Given the description of an element on the screen output the (x, y) to click on. 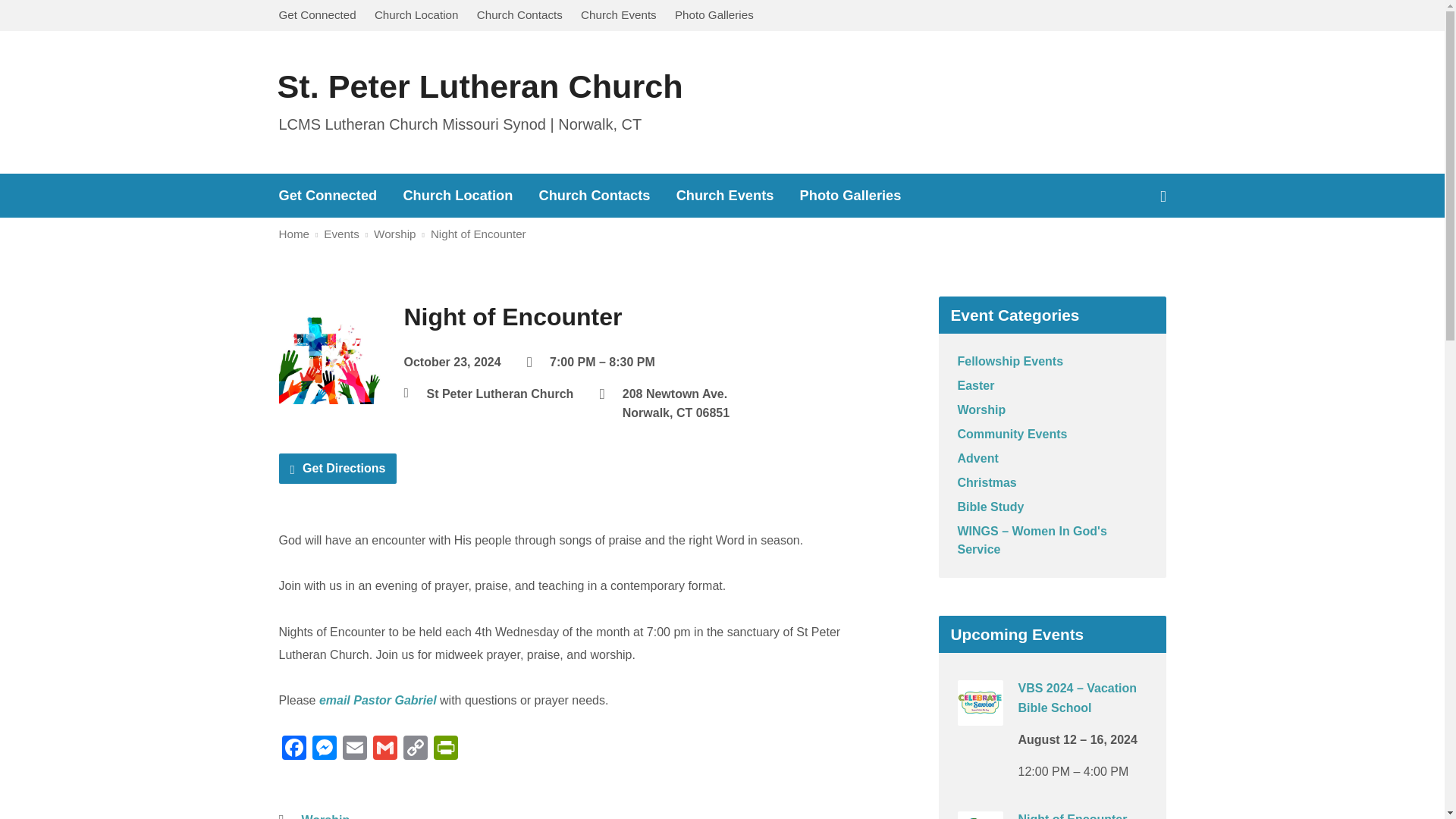
Worship (325, 816)
Get Connected (317, 14)
Get Connected (328, 195)
PrintFriendly (445, 749)
Church Contacts (519, 14)
St. Peter Lutheran Church (480, 85)
Facebook (1163, 195)
Gmail (384, 749)
Facebook (293, 749)
Messenger (323, 749)
Email (354, 749)
email Pastor Gabriel (377, 699)
Gmail (384, 749)
Copy Link (415, 749)
Church Contacts (594, 195)
